Given the description of an element on the screen output the (x, y) to click on. 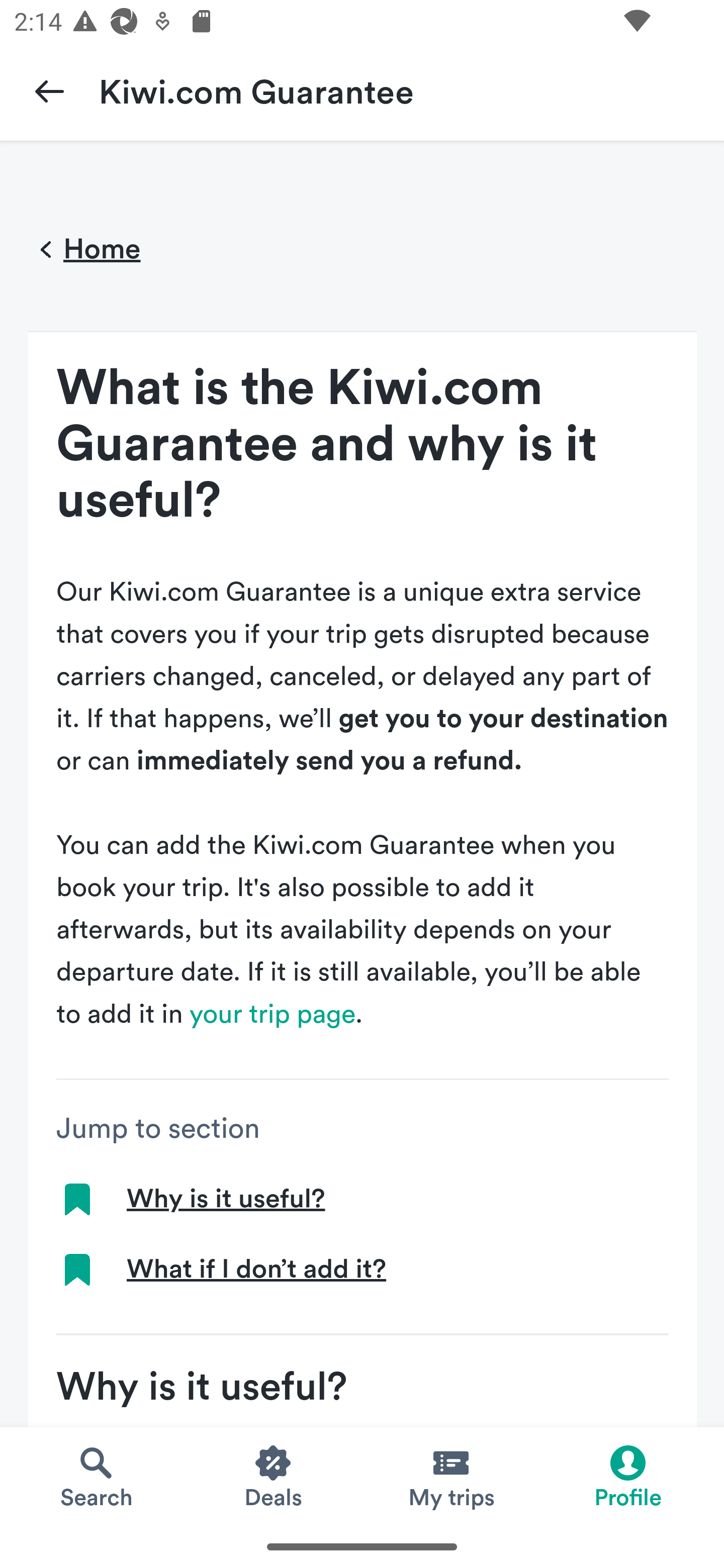
Navigate up (49, 90)
Home (84, 249)
your trip page (272, 1014)
Why is it useful? (225, 1199)
What if I don’t add it? (256, 1269)
Search (95, 1475)
Deals (273, 1475)
My trips (450, 1475)
